Given the description of an element on the screen output the (x, y) to click on. 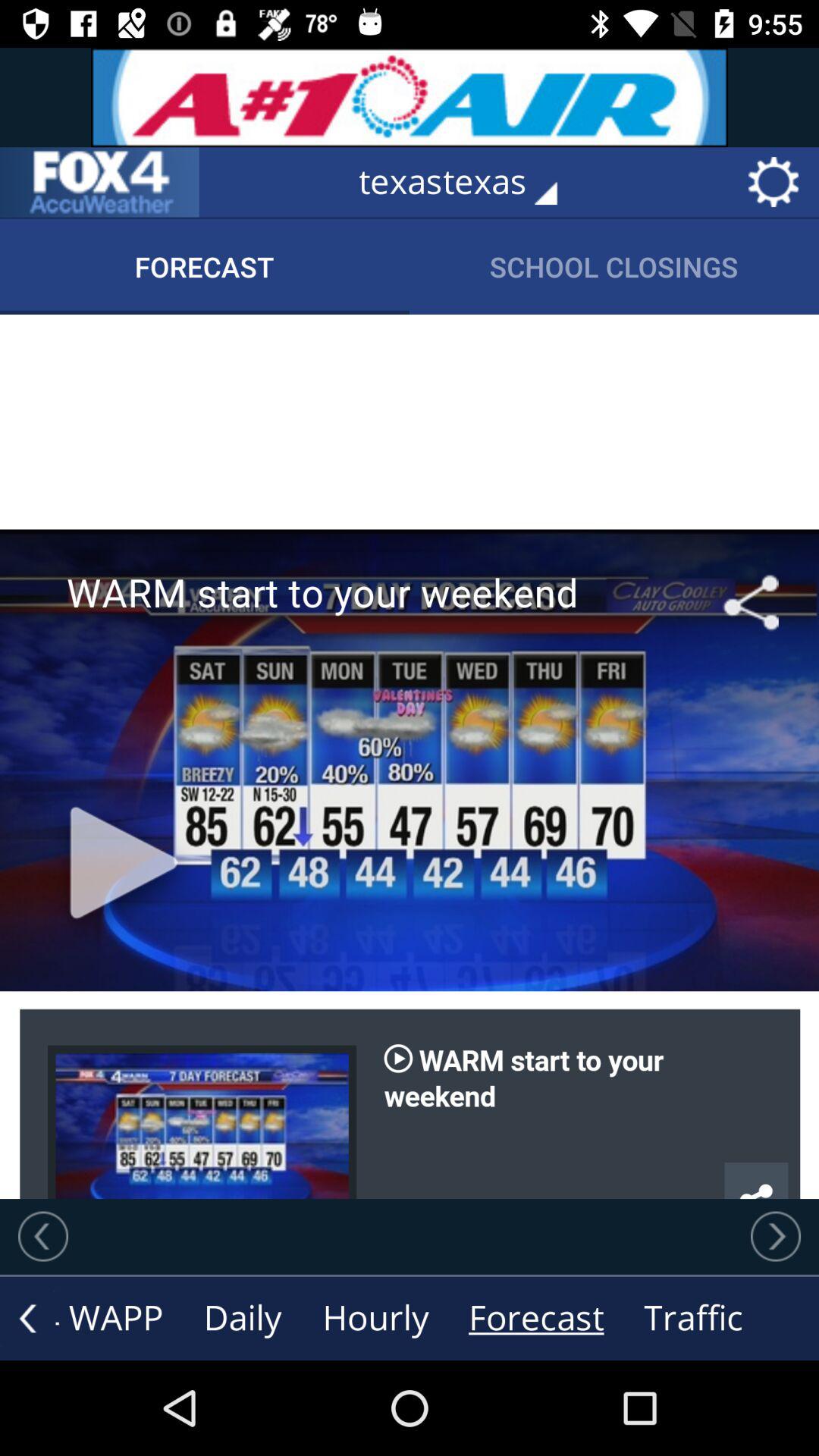
see more options (27, 1318)
